Given the description of an element on the screen output the (x, y) to click on. 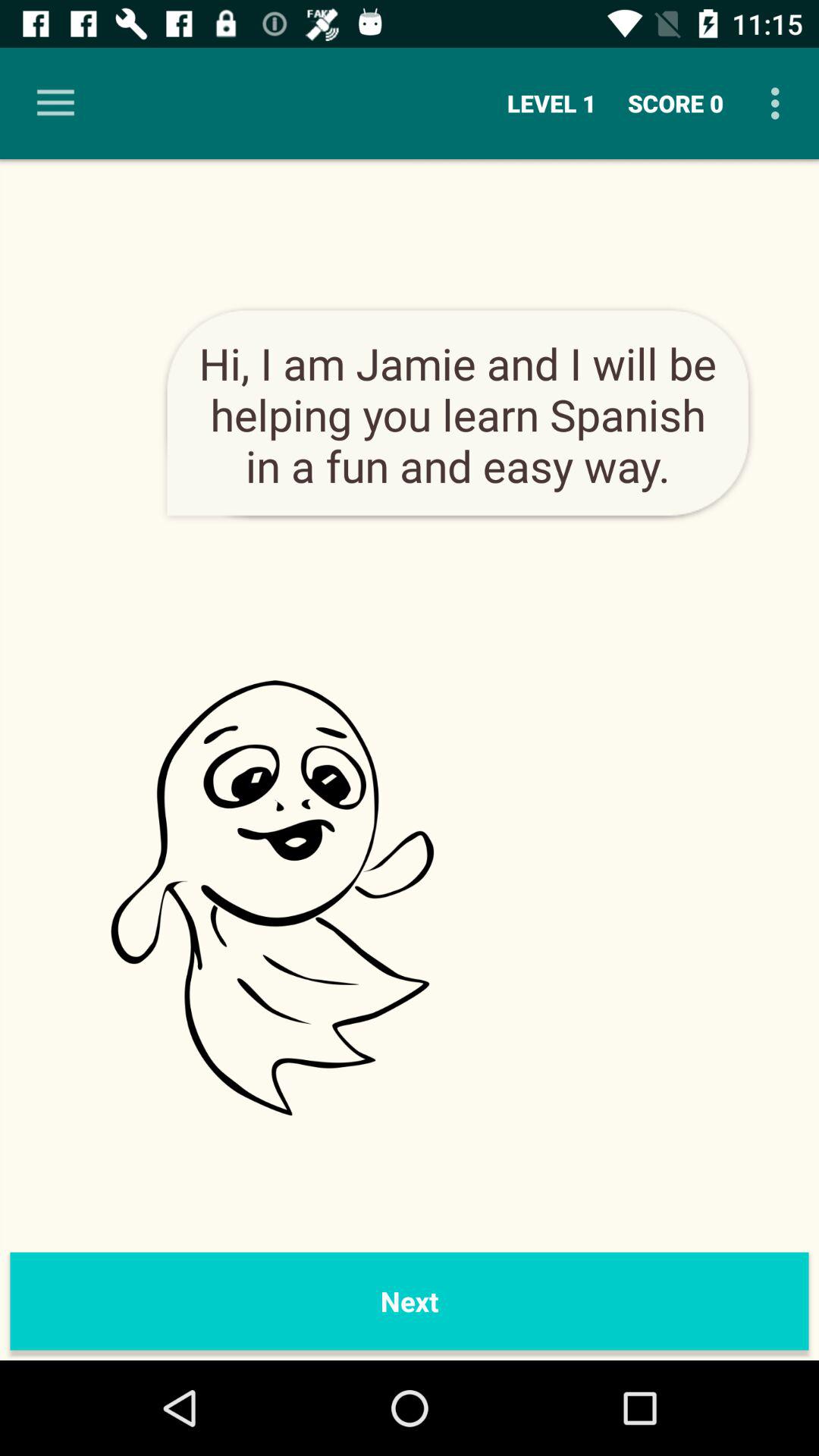
tap item next to level 1 item (55, 103)
